Given the description of an element on the screen output the (x, y) to click on. 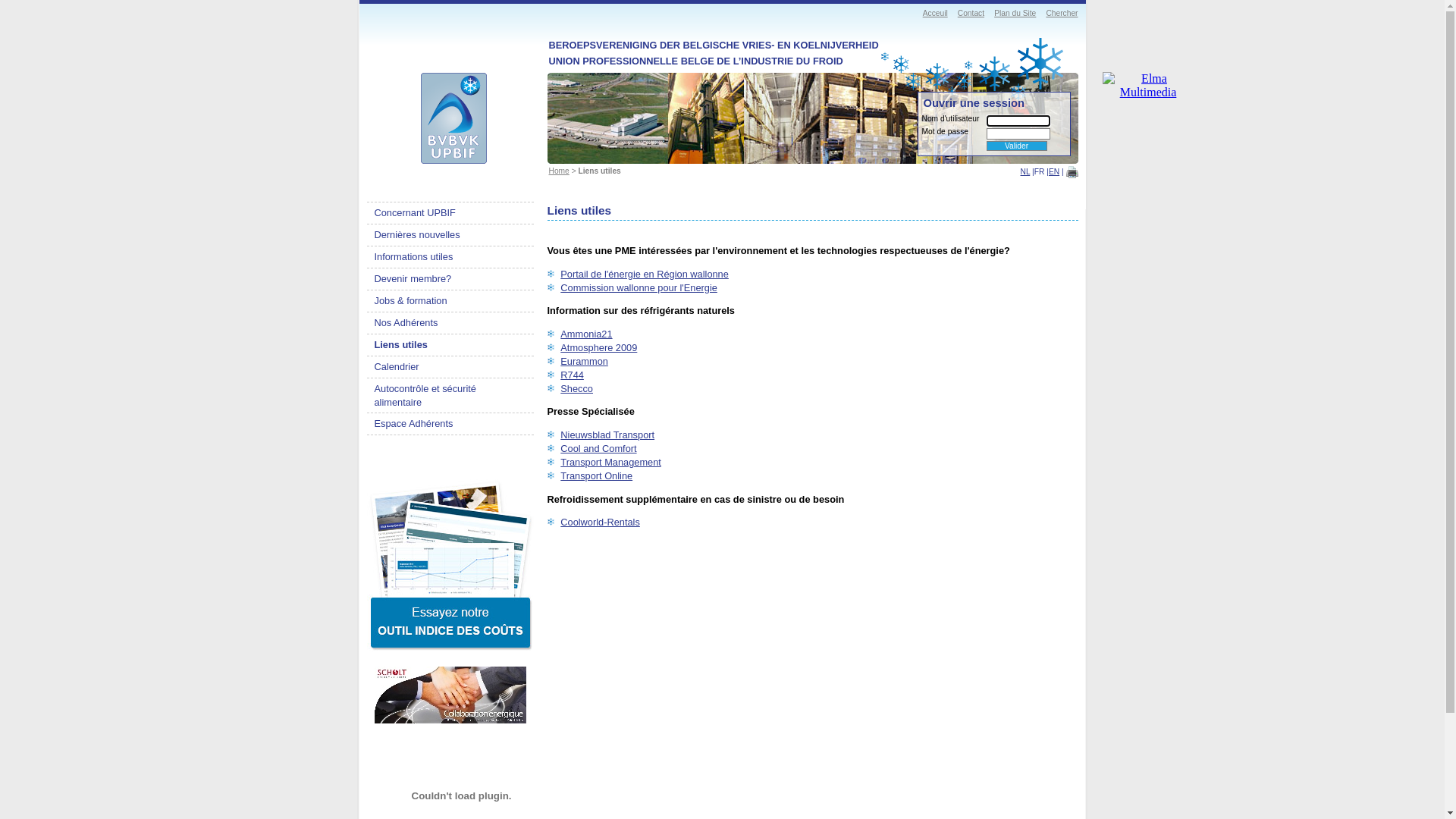
Scholt FR Element type: hover (450, 694)
Eurammon Element type: text (584, 361)
R744 Element type: text (571, 374)
Shecco Element type: text (576, 388)
Acceuil Element type: text (934, 13)
Atmosphere 2009 Element type: text (598, 347)
Contact Element type: text (970, 13)
Imprimer Element type: hover (1072, 172)
Commission wallonne pour l'Energie Element type: text (638, 287)
Plan du Site Element type: text (1014, 13)
Nieuwsblad Transport Element type: text (607, 434)
EN Element type: text (1053, 171)
Cool and Comfort Element type: text (598, 448)
Concernant UPBIF Element type: text (450, 212)
Home Element type: text (559, 170)
Jobs & formation Element type: text (450, 300)
Devenir membre? Element type: text (450, 278)
Ammonia21 Element type: text (585, 333)
NL Element type: text (1025, 171)
Chercher Element type: text (1061, 13)
Transport Online Element type: text (596, 475)
FR Element type: text (1039, 171)
Liens utiles Element type: text (450, 344)
Informations utiles Element type: text (450, 256)
Valider Element type: text (1015, 145)
Transport Management Element type: text (610, 461)
Coolworld-Rentals Element type: text (600, 521)
